Given the description of an element on the screen output the (x, y) to click on. 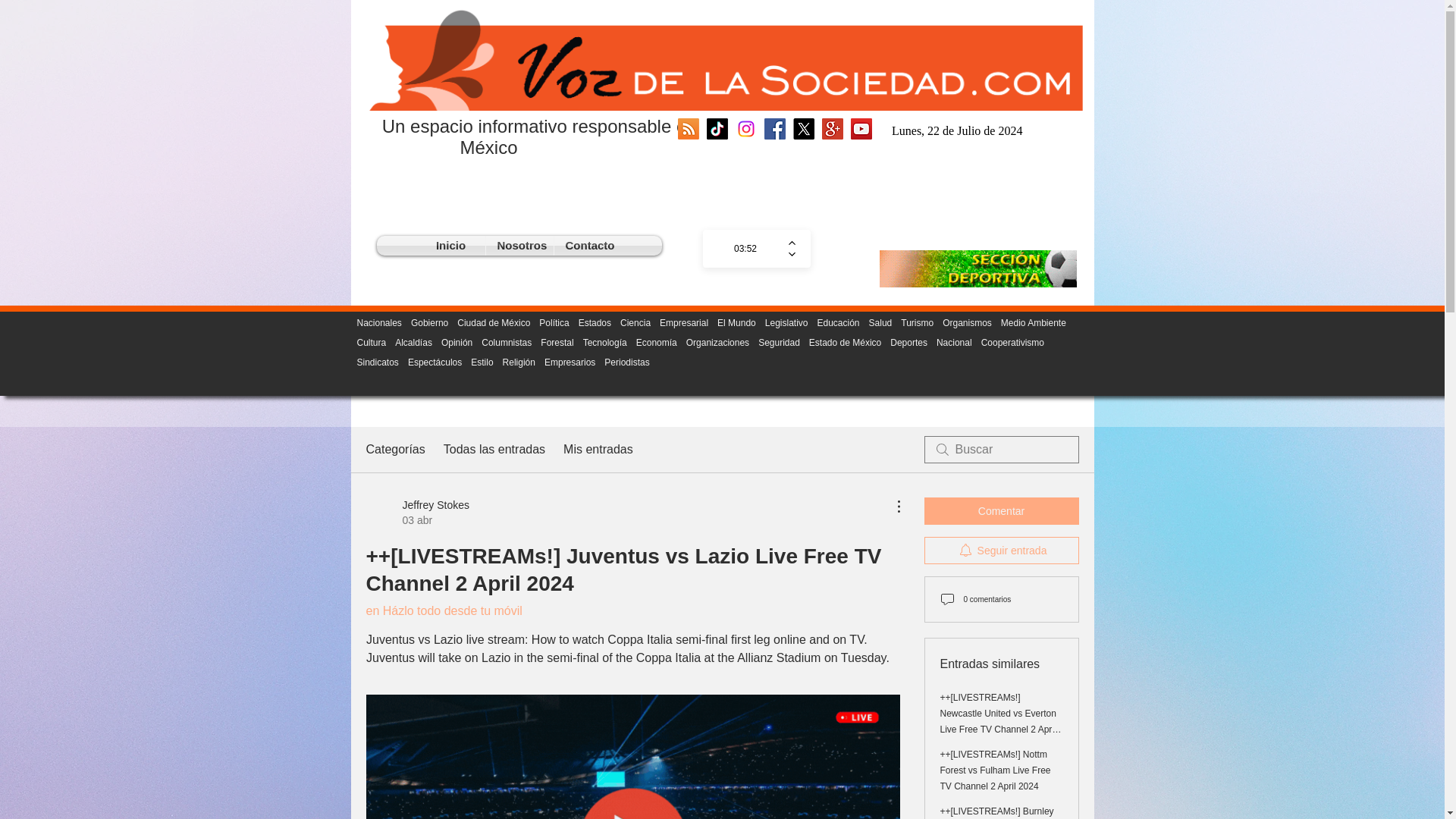
Deportes (908, 342)
Columnistas (506, 342)
Cultura (370, 342)
03:52 (744, 248)
Inicio (450, 245)
Forestal (556, 342)
Turismo (917, 322)
Organismos (966, 322)
logo-voz-final-color-2.gif (719, 58)
Nacional (954, 342)
Nosotros (518, 245)
El Mundo (736, 322)
Ciencia (635, 322)
Legislativo (786, 322)
Embedded Content (984, 132)
